Given the description of an element on the screen output the (x, y) to click on. 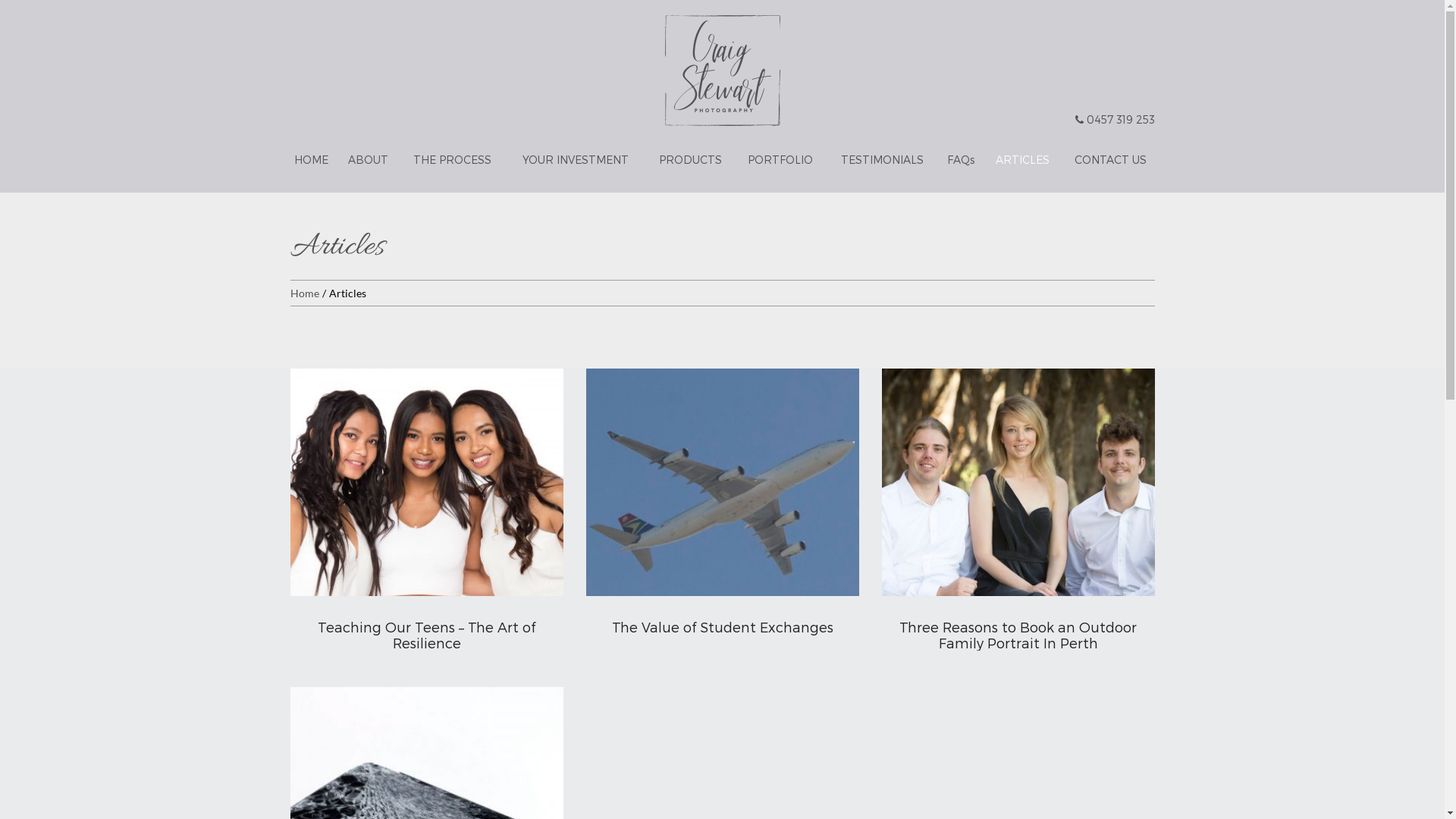
Craig Stewart Photography Element type: hover (721, 70)
PORTFOLIO Element type: text (779, 159)
0457 319 253 Element type: text (1114, 118)
THE PROCESS Element type: text (451, 159)
ABOUT Element type: text (367, 159)
PRODUCTS Element type: text (690, 159)
YOUR INVESTMENT Element type: text (575, 159)
CONTACT US Element type: text (1107, 159)
TESTIMONIALS Element type: text (881, 159)
HOME Element type: text (313, 159)
ARTICLES Element type: text (1021, 159)
Home Element type: text (303, 292)
FAQs Element type: text (960, 159)
